Given the description of an element on the screen output the (x, y) to click on. 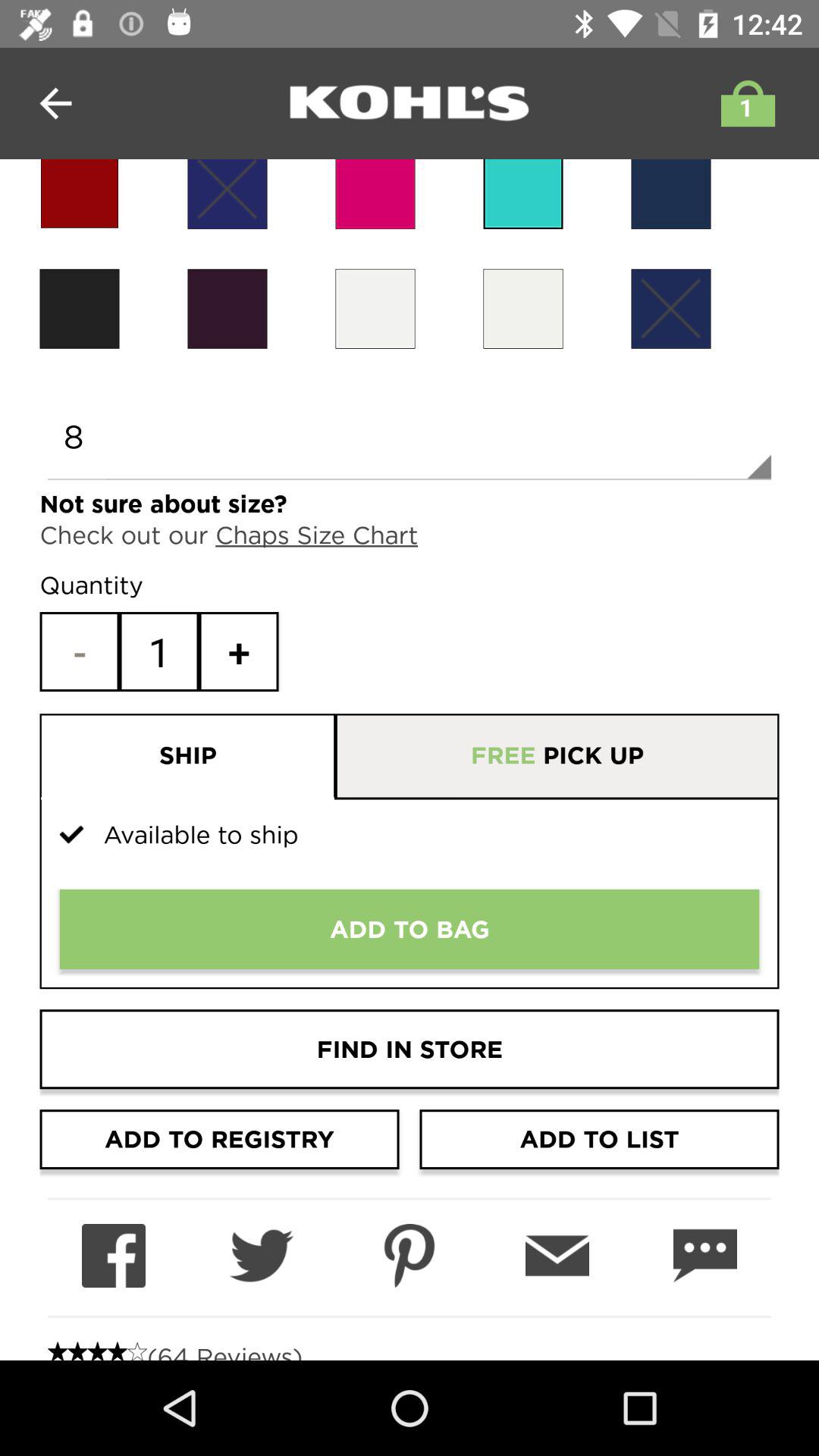
send product information to facebook (113, 1255)
